Given the description of an element on the screen output the (x, y) to click on. 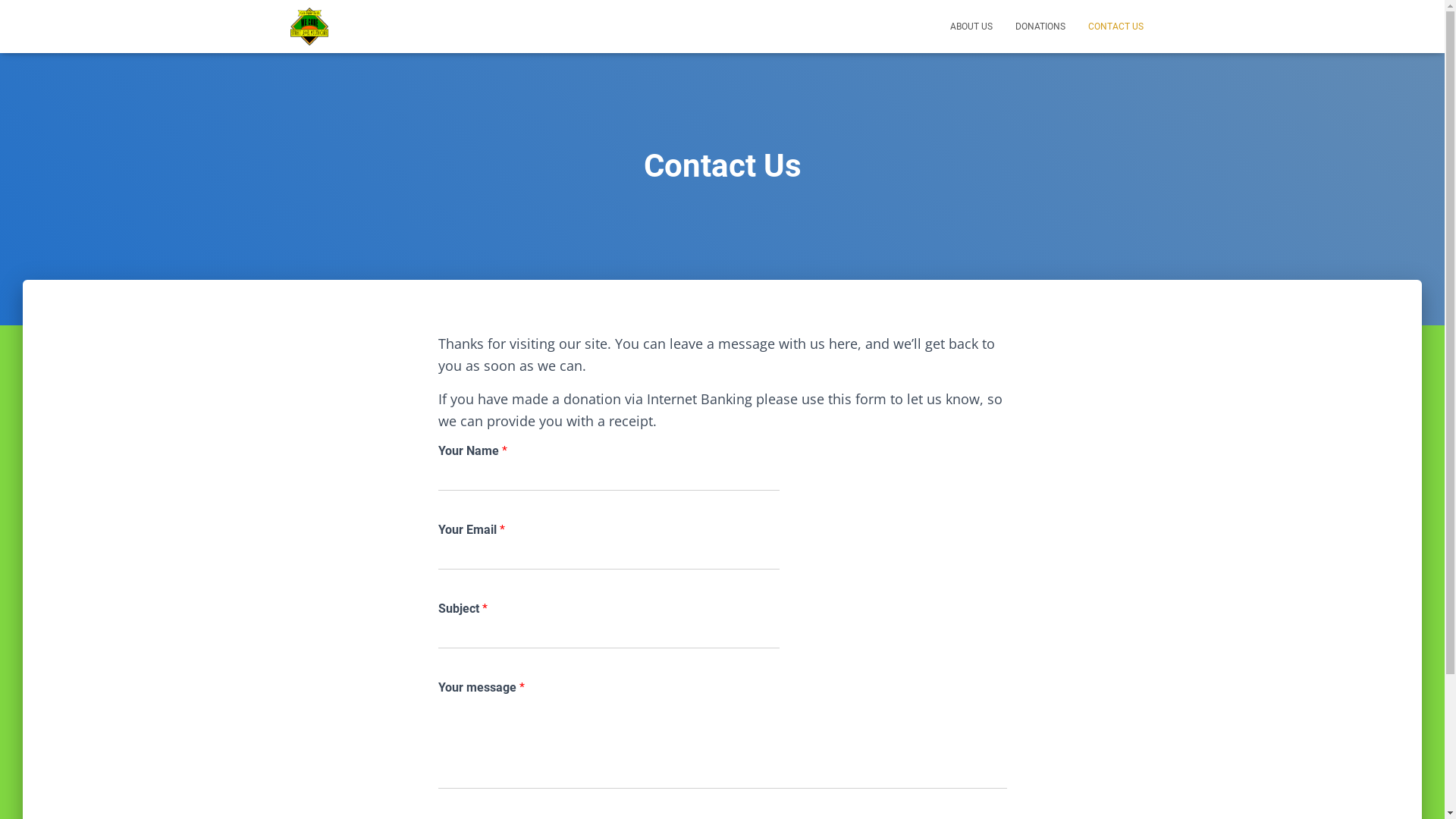
DONATIONS Element type: text (1040, 26)
Street Level Youth Care Element type: hover (309, 26)
ABOUT US Element type: text (971, 26)
CONTACT US Element type: text (1115, 26)
